Given the description of an element on the screen output the (x, y) to click on. 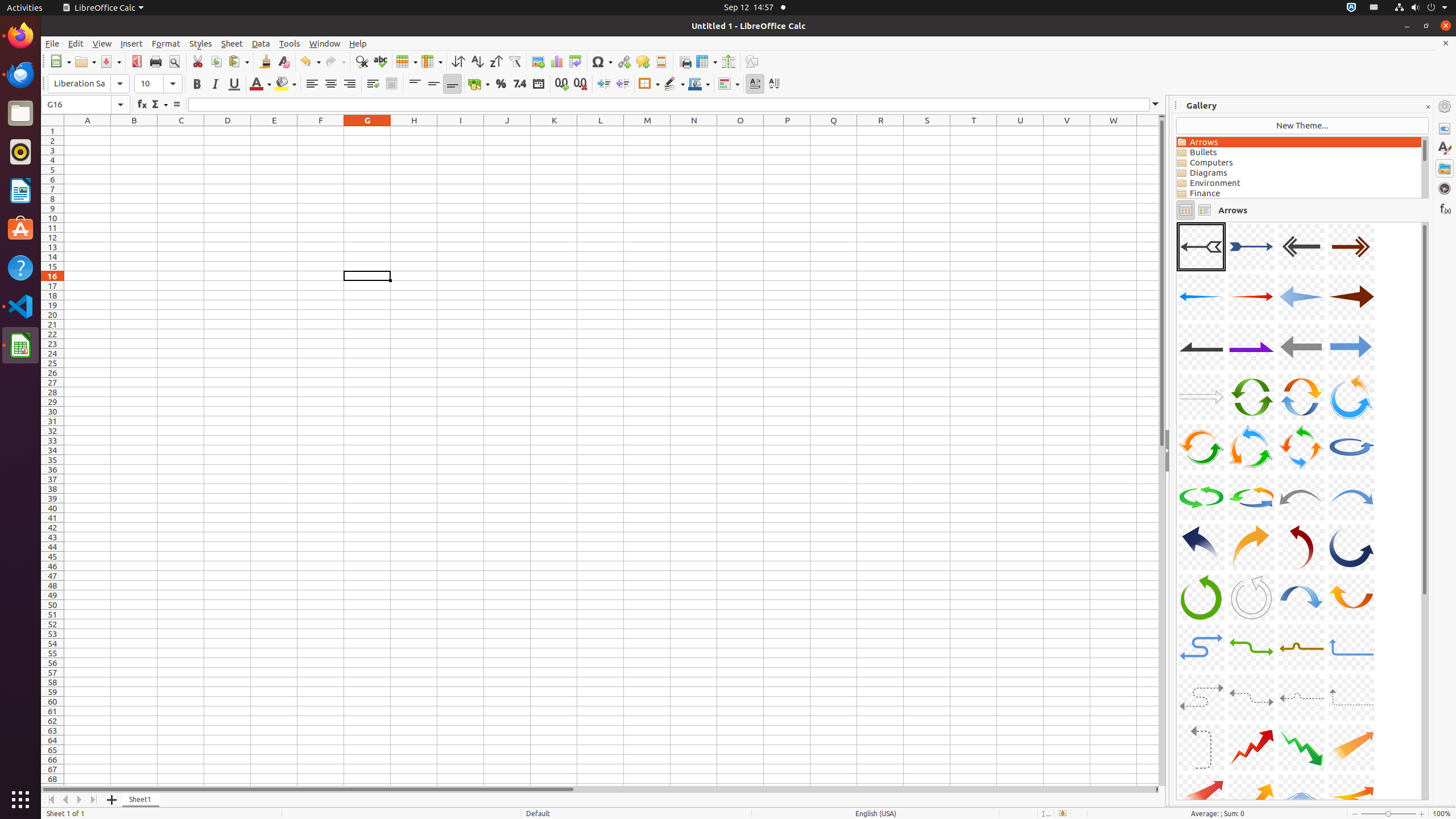
Split Window Element type: push-button (727, 61)
O1 Element type: table-cell (740, 130)
Font Color Element type: push-button (260, 83)
A31-CurvedArrow-LightBlue Element type: list-item (1300, 596)
A08-Arrow-DarkRed-Right Element type: list-item (1350, 296)
